Given the description of an element on the screen output the (x, y) to click on. 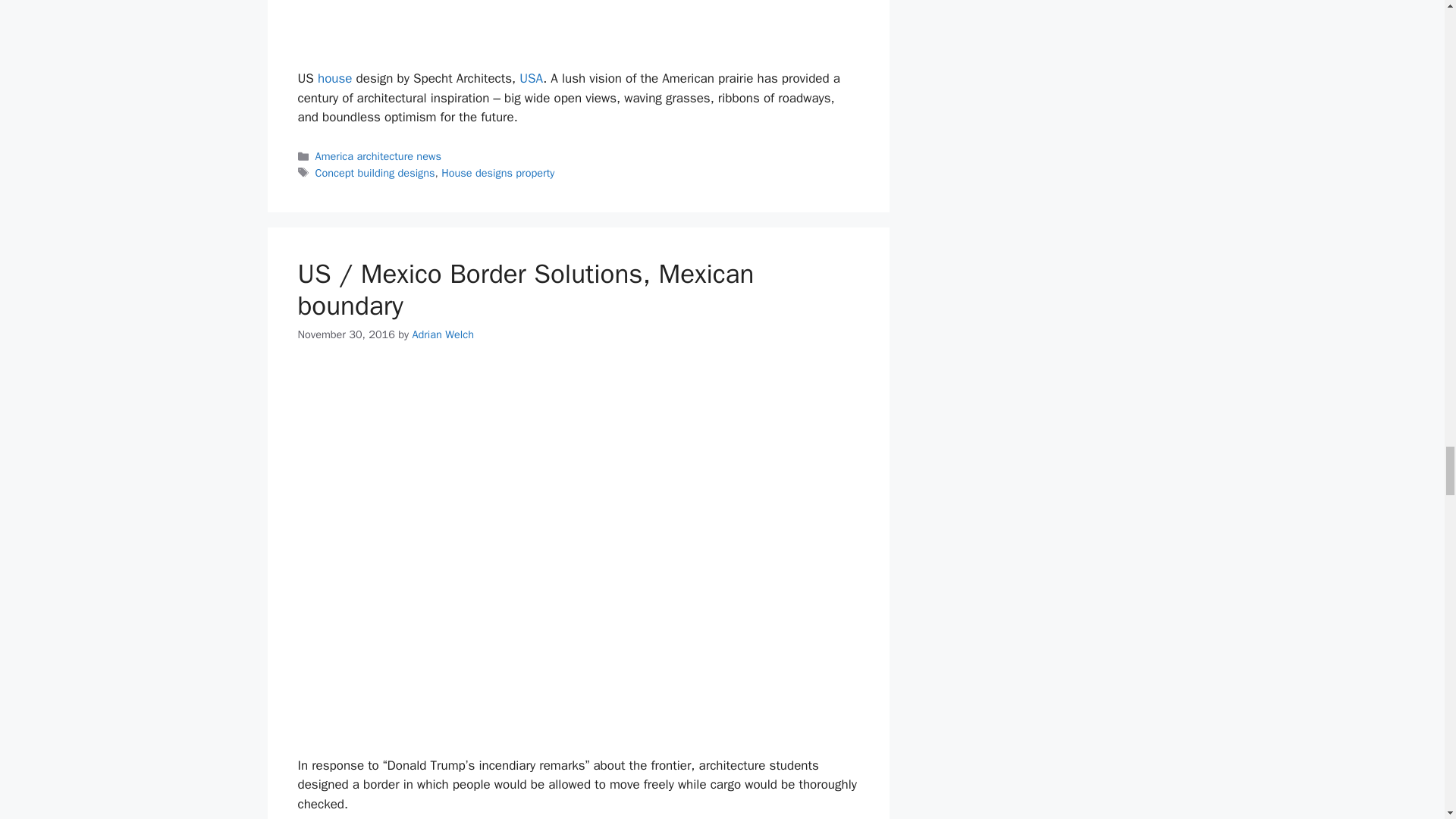
View all posts by Adrian Welch (443, 334)
